Given the description of an element on the screen output the (x, y) to click on. 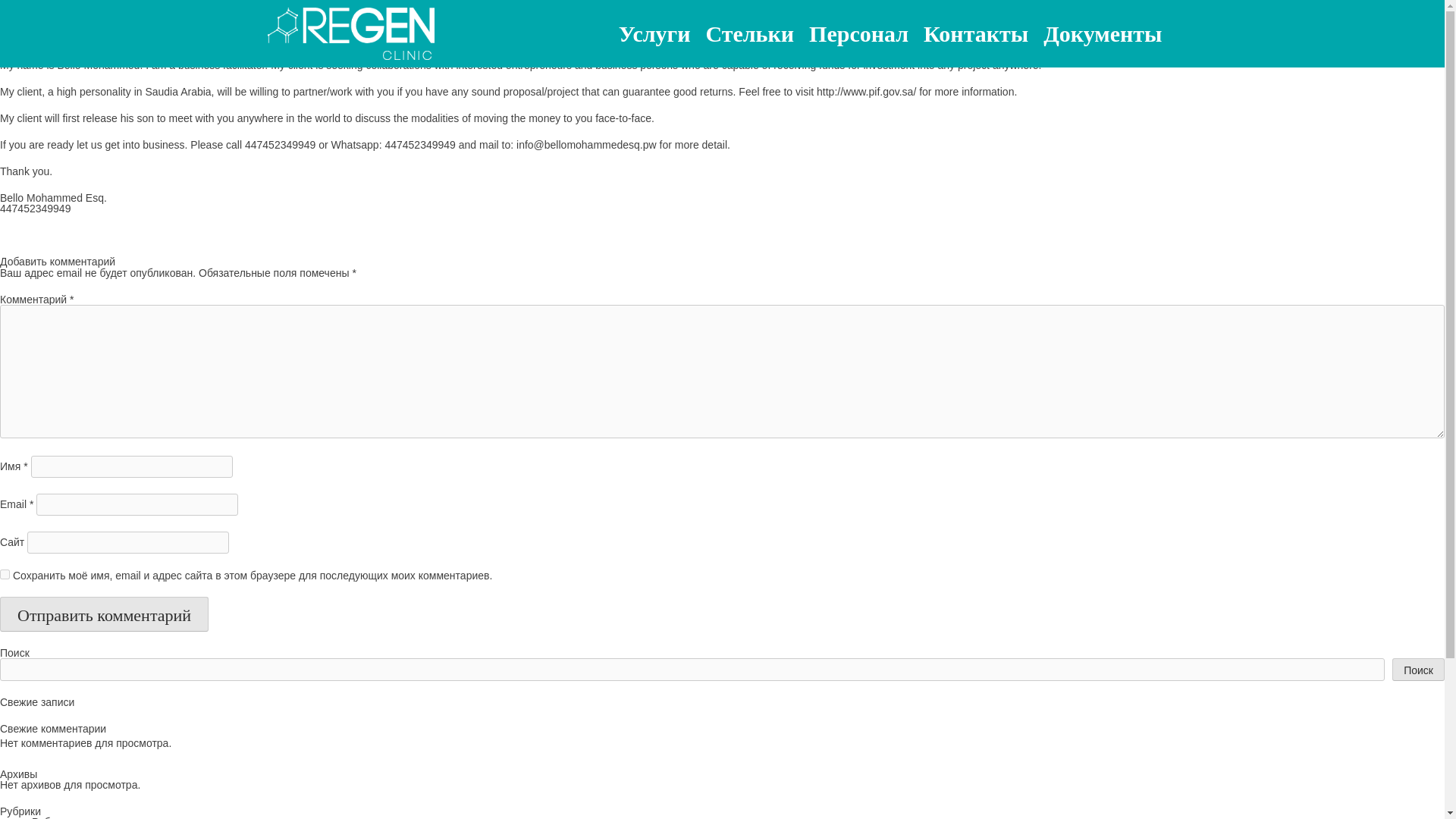
Previous: Hi regenclinic.org Admin. This is Eric (109, 234)
yes (5, 574)
